Given the description of an element on the screen output the (x, y) to click on. 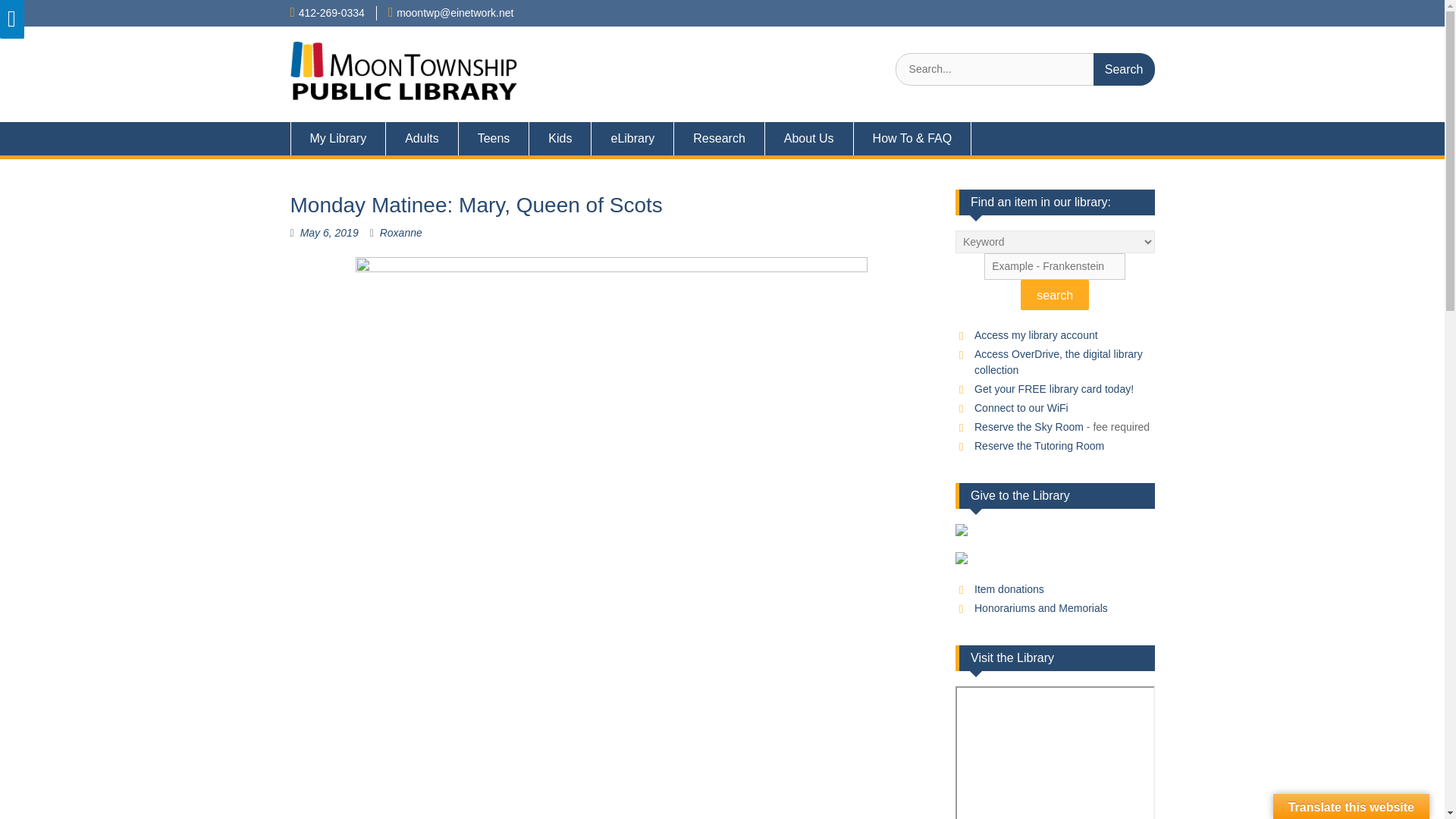
Search (1123, 69)
May 6, 2019 (328, 232)
search (1054, 295)
Search (1123, 69)
Research (719, 138)
Kids (560, 138)
eLibrary (632, 138)
My Library (337, 138)
Search (1123, 69)
Search for: (1024, 69)
